Given the description of an element on the screen output the (x, y) to click on. 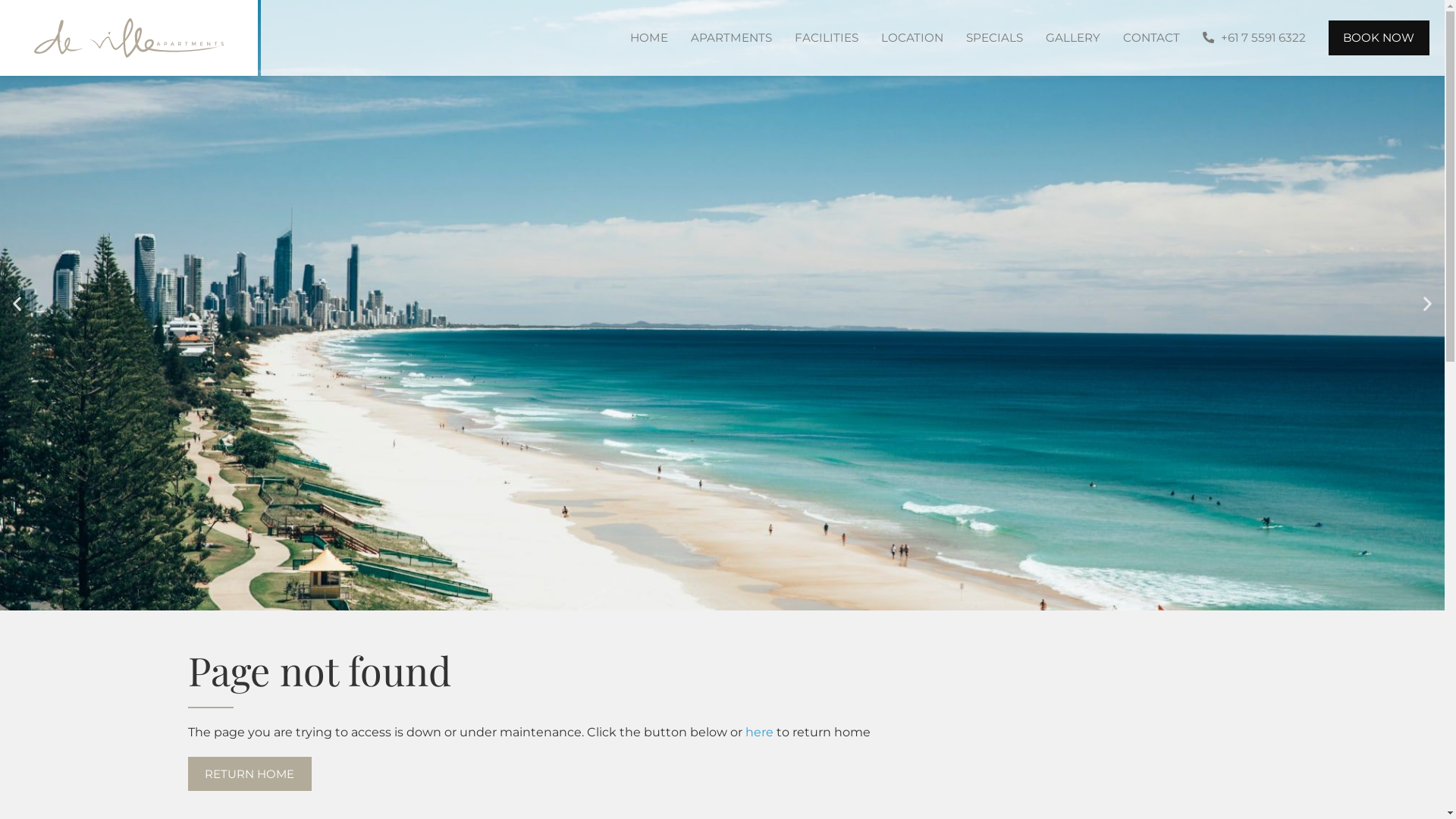
CONTACT Element type: text (1151, 37)
SPECIALS Element type: text (993, 37)
RETURN HOME Element type: text (249, 773)
+61 7 5591 6322 Element type: text (1253, 37)
APARTMENTS Element type: text (731, 37)
here Element type: text (758, 731)
GALLERY Element type: text (1072, 37)
FACILITIES Element type: text (825, 37)
LOCATION Element type: text (911, 37)
HOME Element type: text (648, 37)
BOOK NOW Element type: text (1379, 37)
